Given the description of an element on the screen output the (x, y) to click on. 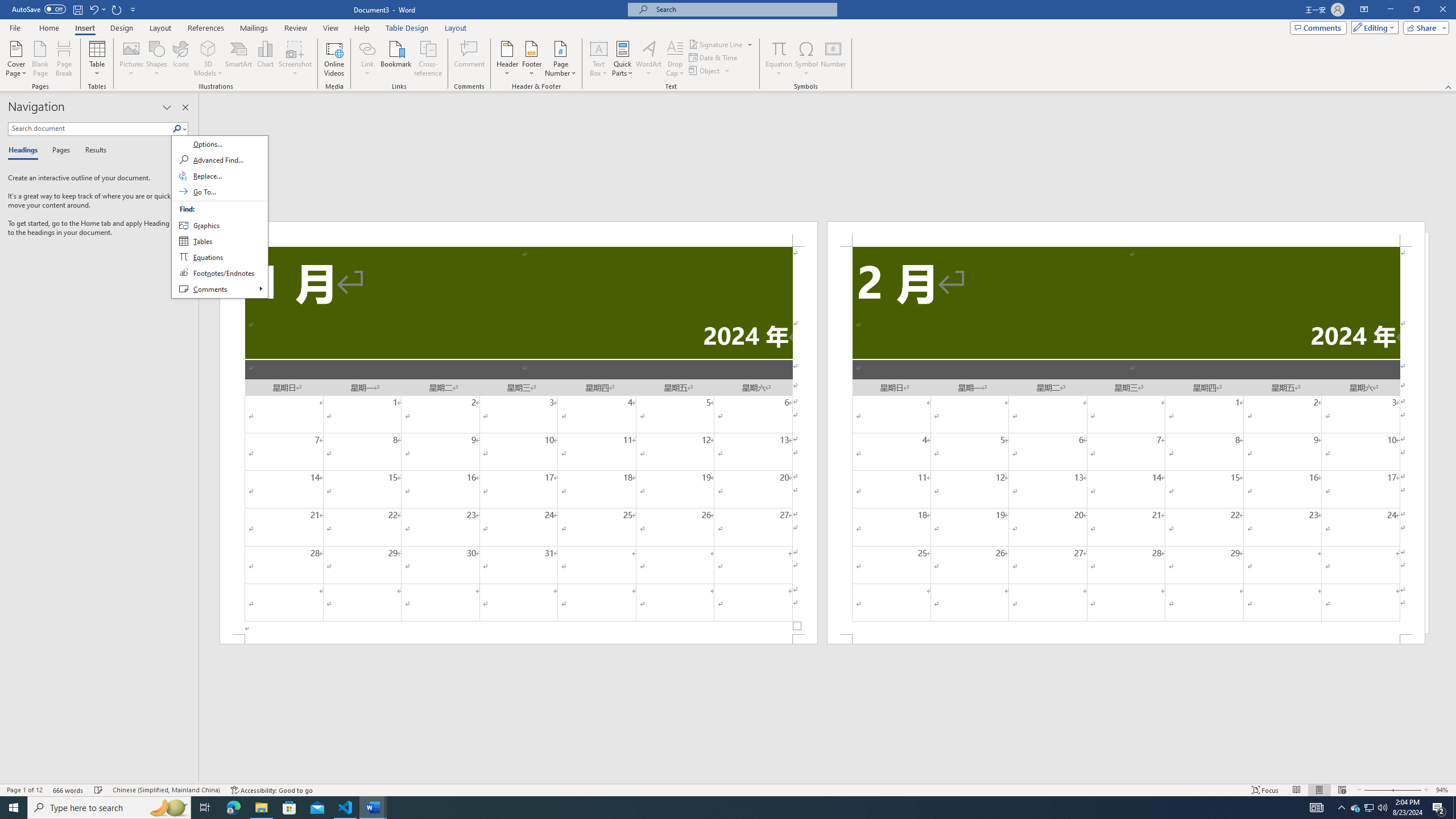
Running applications (717, 807)
Object... (705, 69)
SmartArt... (238, 58)
Table (97, 58)
Equation (778, 48)
